Given the description of an element on the screen output the (x, y) to click on. 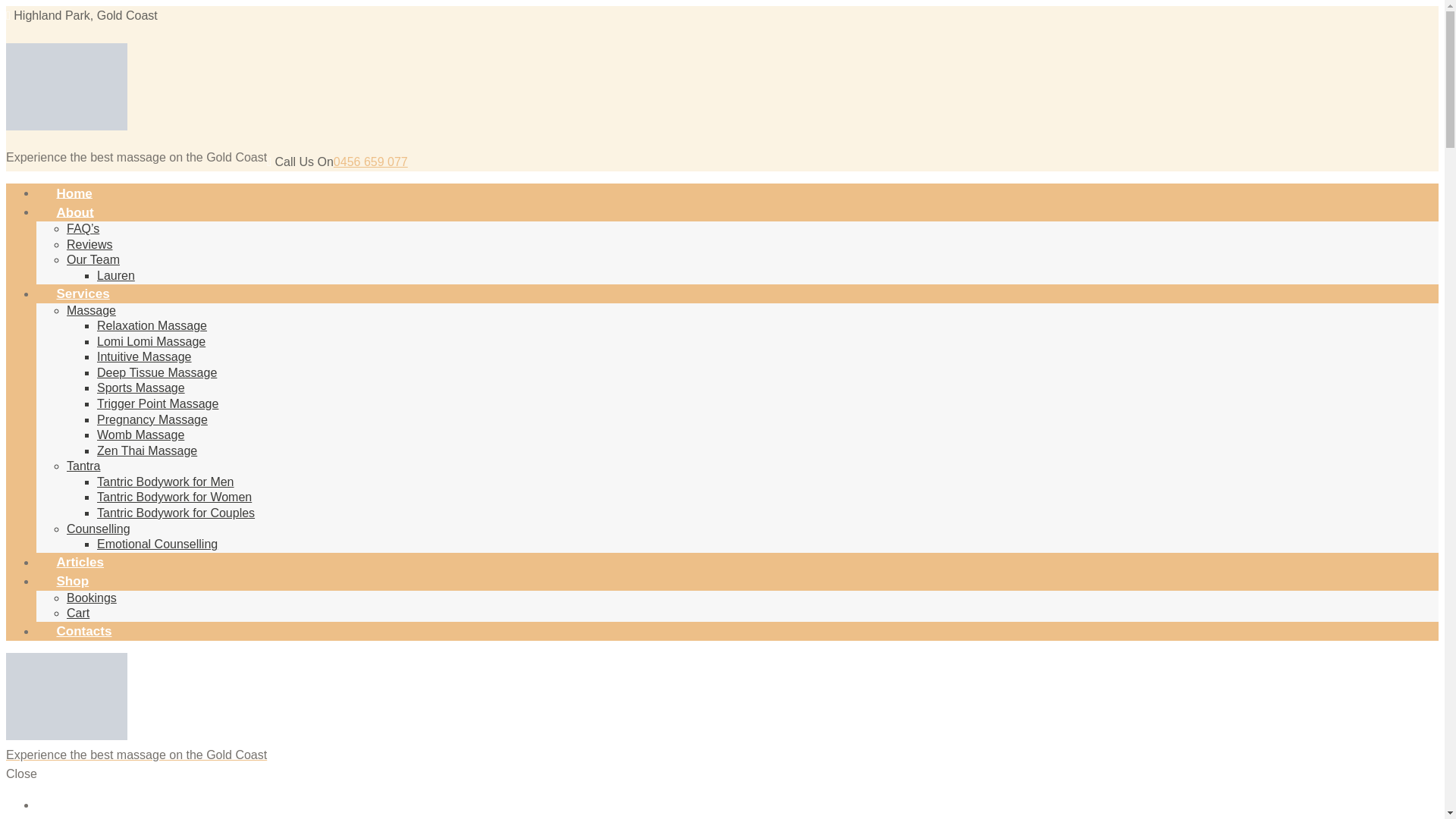
Zen Thai Massage Element type: text (147, 450)
0456 659 077 Element type: text (370, 161)
Home Element type: text (74, 193)
Cart Element type: text (77, 612)
Tantric Bodywork for Men Element type: text (165, 481)
Emotional Counselling Element type: text (157, 543)
Massage Element type: text (91, 310)
Services Element type: text (82, 294)
Bookings Element type: text (91, 597)
Womb Massage Element type: text (140, 434)
Trigger Point Massage Element type: text (157, 403)
Lauren Element type: text (115, 275)
Contacts Element type: text (83, 631)
Intuitive Massage Element type: text (144, 356)
Reviews Element type: text (89, 244)
Our Team Element type: text (92, 259)
Counselling Element type: text (98, 528)
Shop Element type: text (72, 581)
About Element type: text (74, 212)
Pregnancy Massage Element type: text (152, 419)
Relaxation Massage Element type: text (152, 325)
Sports Massage Element type: text (141, 387)
Experience the best massage on the Gold Coast Element type: text (66, 125)
Lomi Lomi Massage Element type: text (151, 341)
Articles Element type: text (80, 562)
Tantric Bodywork for Women Element type: text (174, 496)
Tantra Element type: text (83, 465)
Deep Tissue Massage Element type: text (156, 372)
Experience the best massage on the Gold Coast Element type: text (722, 746)
Tantric Bodywork for Couples Element type: text (175, 512)
